Given the description of an element on the screen output the (x, y) to click on. 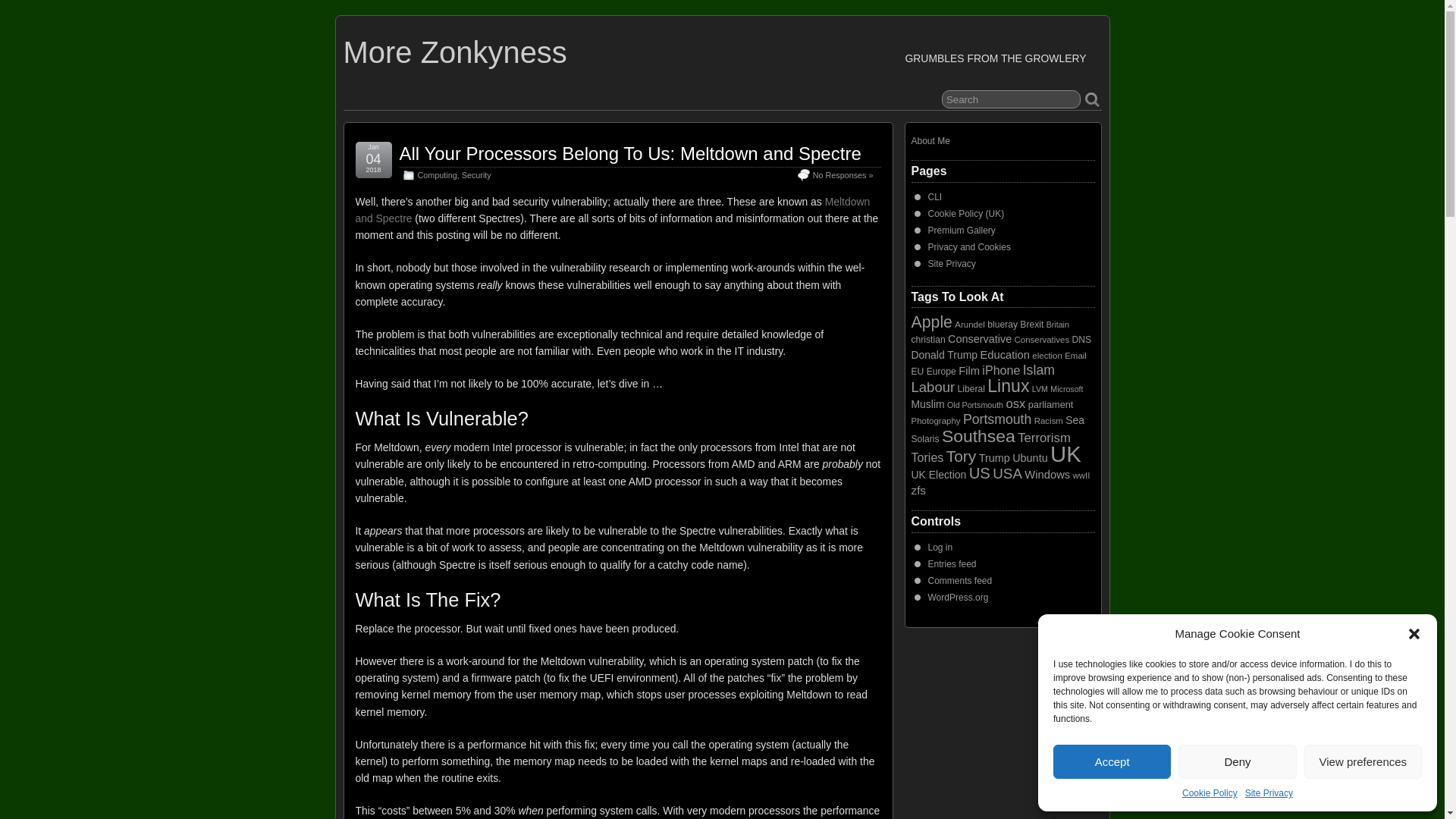
Brexit (1031, 324)
Computing (436, 174)
Premium Gallery (961, 230)
Apple (931, 321)
Deny (1236, 761)
Britain (1057, 324)
Arundel (970, 324)
blueray (1002, 324)
Security (476, 174)
All Your Processors Belong To Us: Meltdown and Spectre (629, 153)
christian (927, 339)
Search (1011, 99)
Search (1011, 99)
View preferences (1363, 761)
Site Privacy (1268, 793)
